Given the description of an element on the screen output the (x, y) to click on. 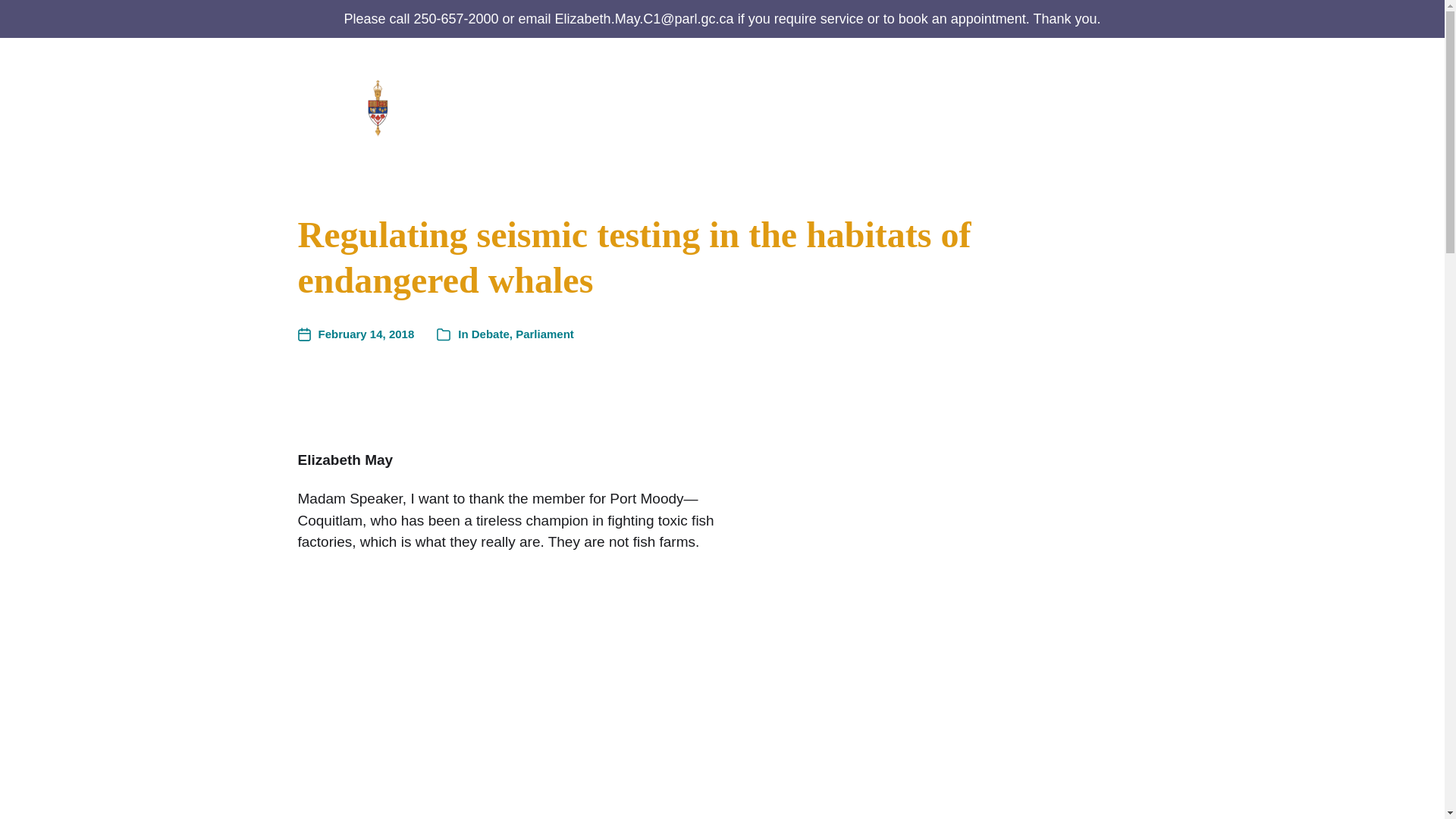
Parliament (936, 106)
FR (1137, 118)
Issues (1028, 106)
About (638, 106)
Can We Help? (722, 106)
EN (1136, 90)
Publications (844, 106)
